Given the description of an element on the screen output the (x, y) to click on. 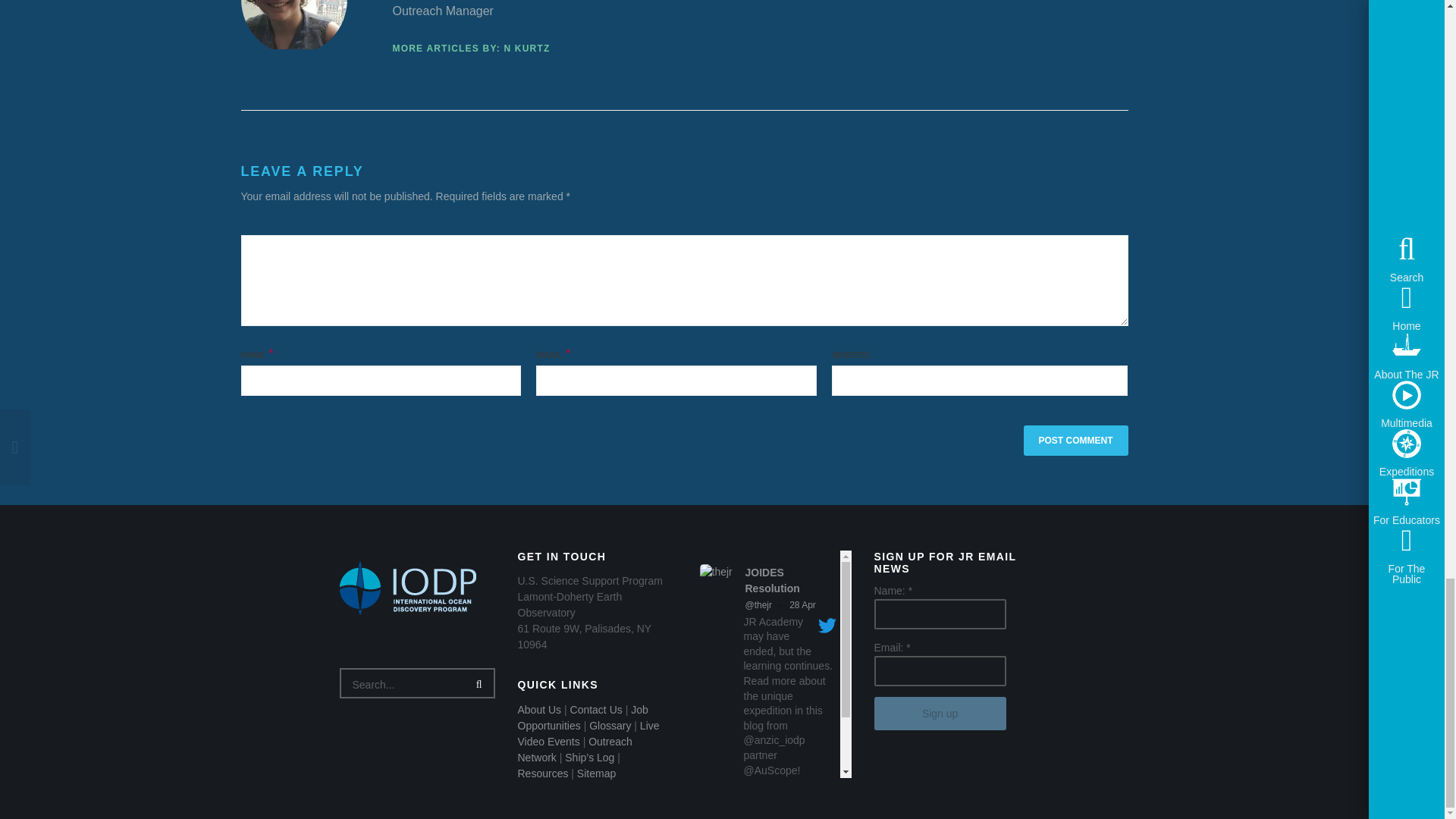
Post Comment (1075, 440)
MORE ARTICLES BY: N KURTZ (471, 48)
Post Comment (1075, 440)
Sign up (939, 713)
